Given the description of an element on the screen output the (x, y) to click on. 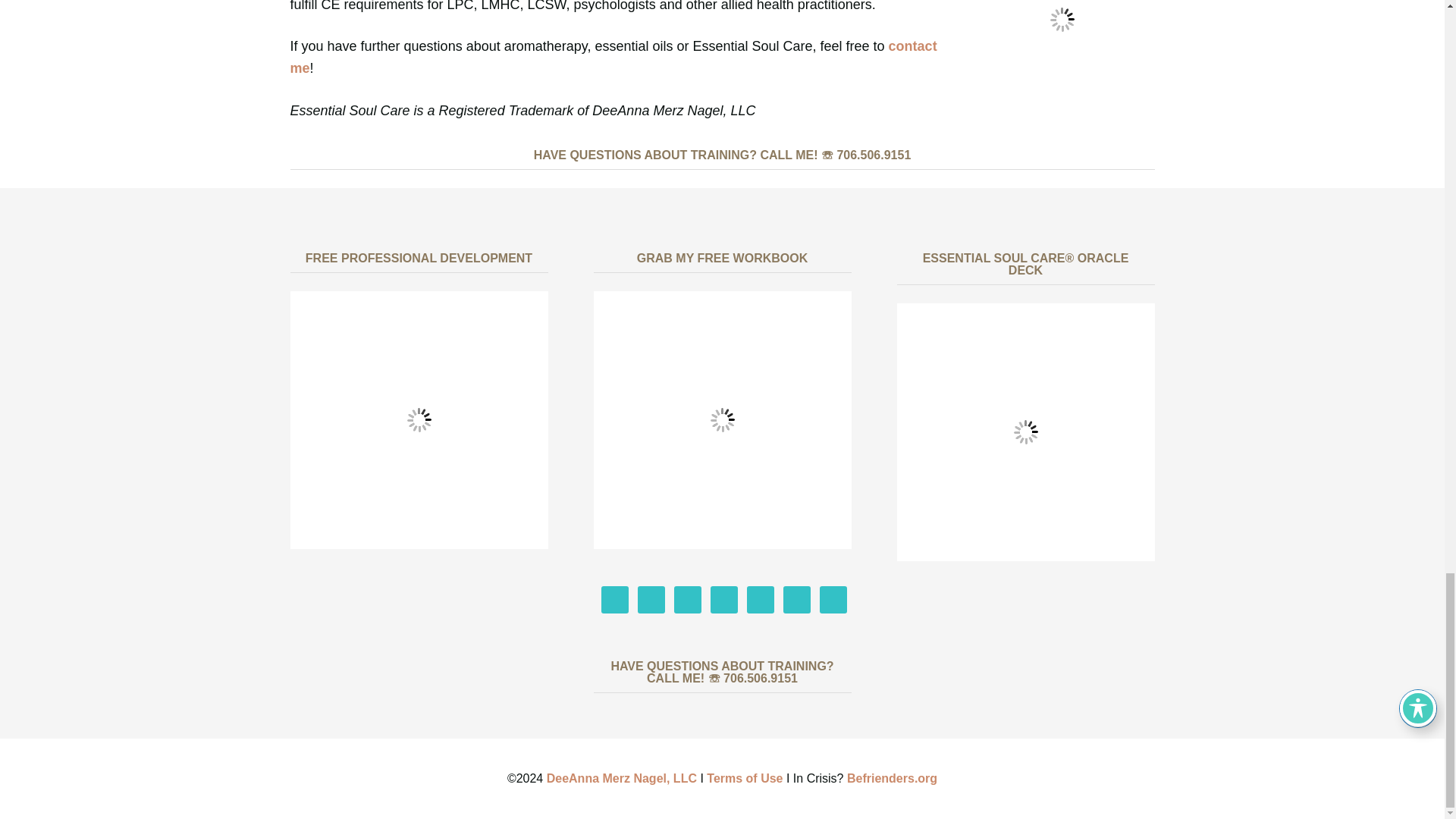
contact me (612, 57)
DeeAnna Merz Nagel, LLC (622, 778)
